Given the description of an element on the screen output the (x, y) to click on. 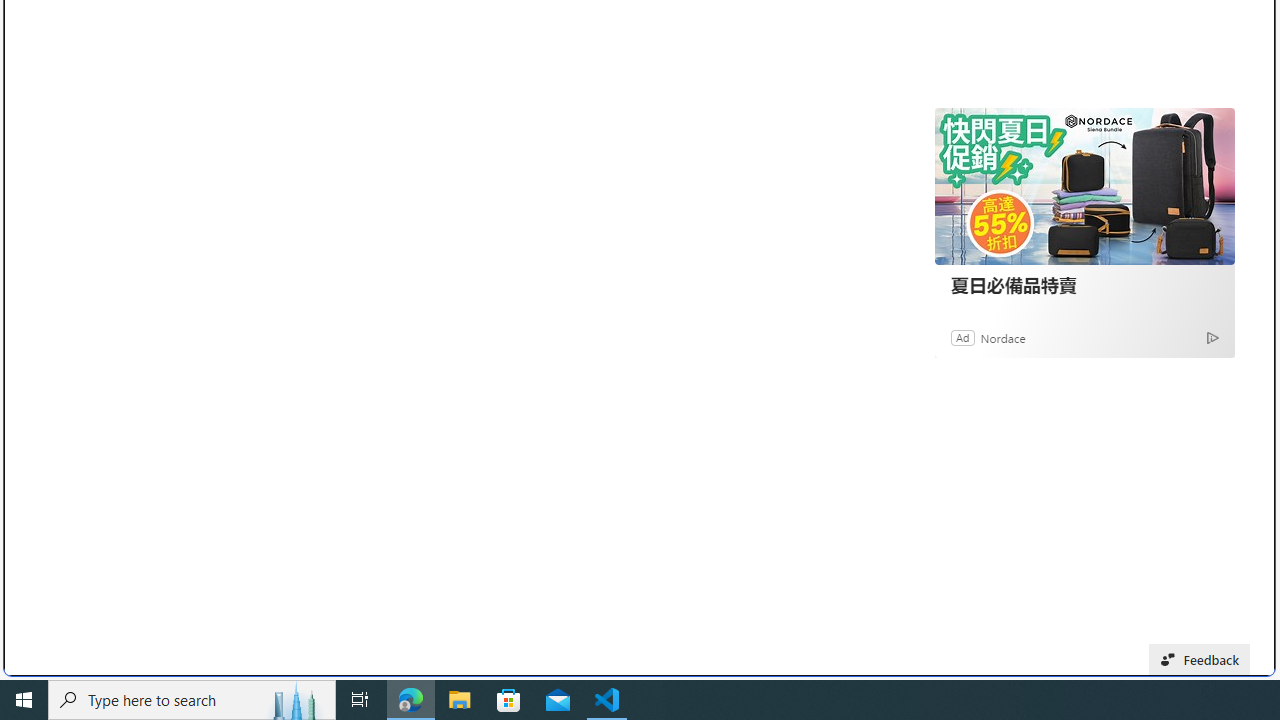
Ad Choice (1212, 336)
Feedback (1199, 659)
Ad (963, 337)
